Given the description of an element on the screen output the (x, y) to click on. 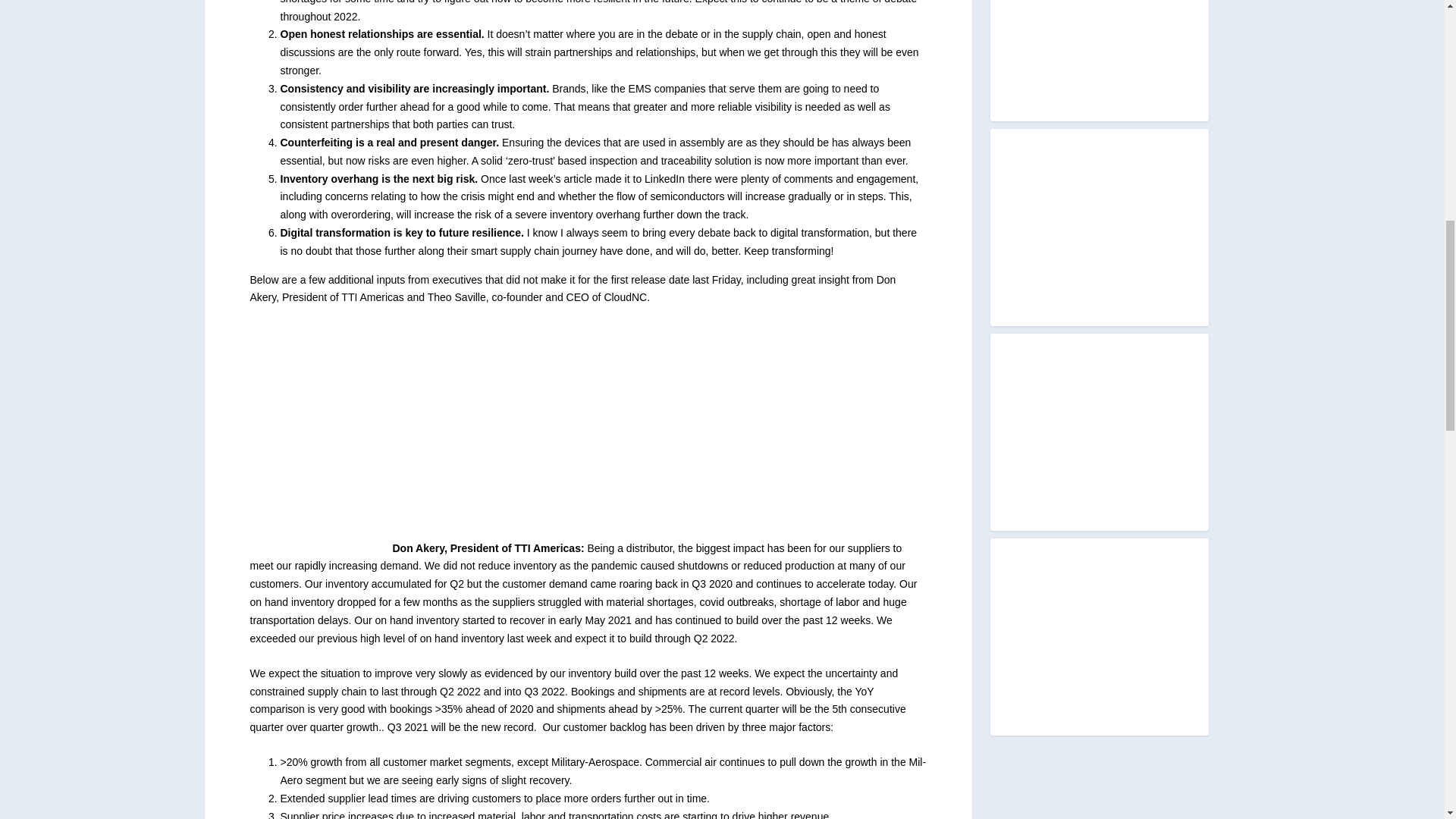
don akery r (321, 438)
